Given the description of an element on the screen output the (x, y) to click on. 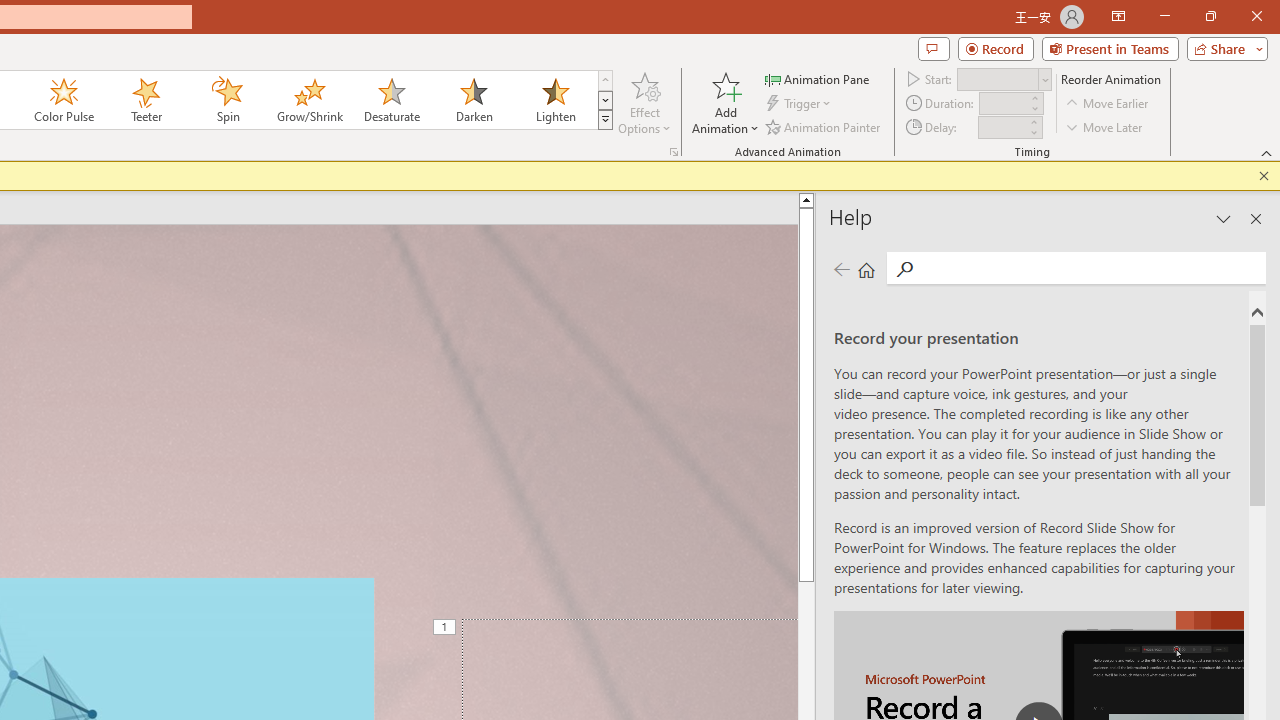
Color Pulse (63, 100)
Close this message (1263, 176)
Lighten (555, 100)
Animation, sequence 1, on Title 1 (445, 628)
